Given the description of an element on the screen output the (x, y) to click on. 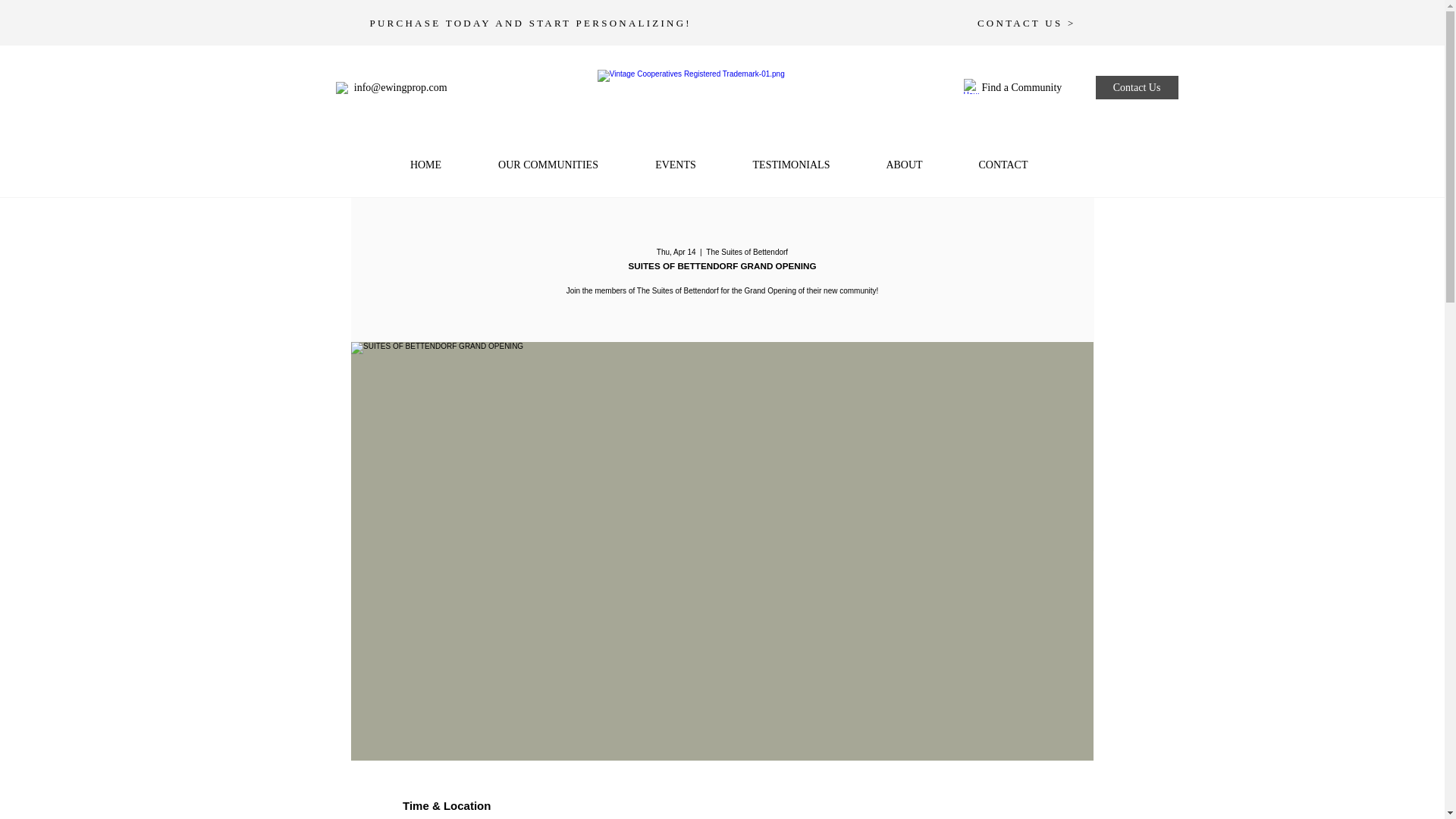
Find a Community (1031, 87)
Contact Us (1136, 87)
TESTIMONIALS (792, 165)
EVENTS (674, 165)
CONTACT (1003, 165)
HOME (425, 165)
OUR COMMUNITIES (548, 165)
ABOUT (904, 165)
PURCHASE TODAY AND START PERSONALIZING! (530, 22)
